Given the description of an element on the screen output the (x, y) to click on. 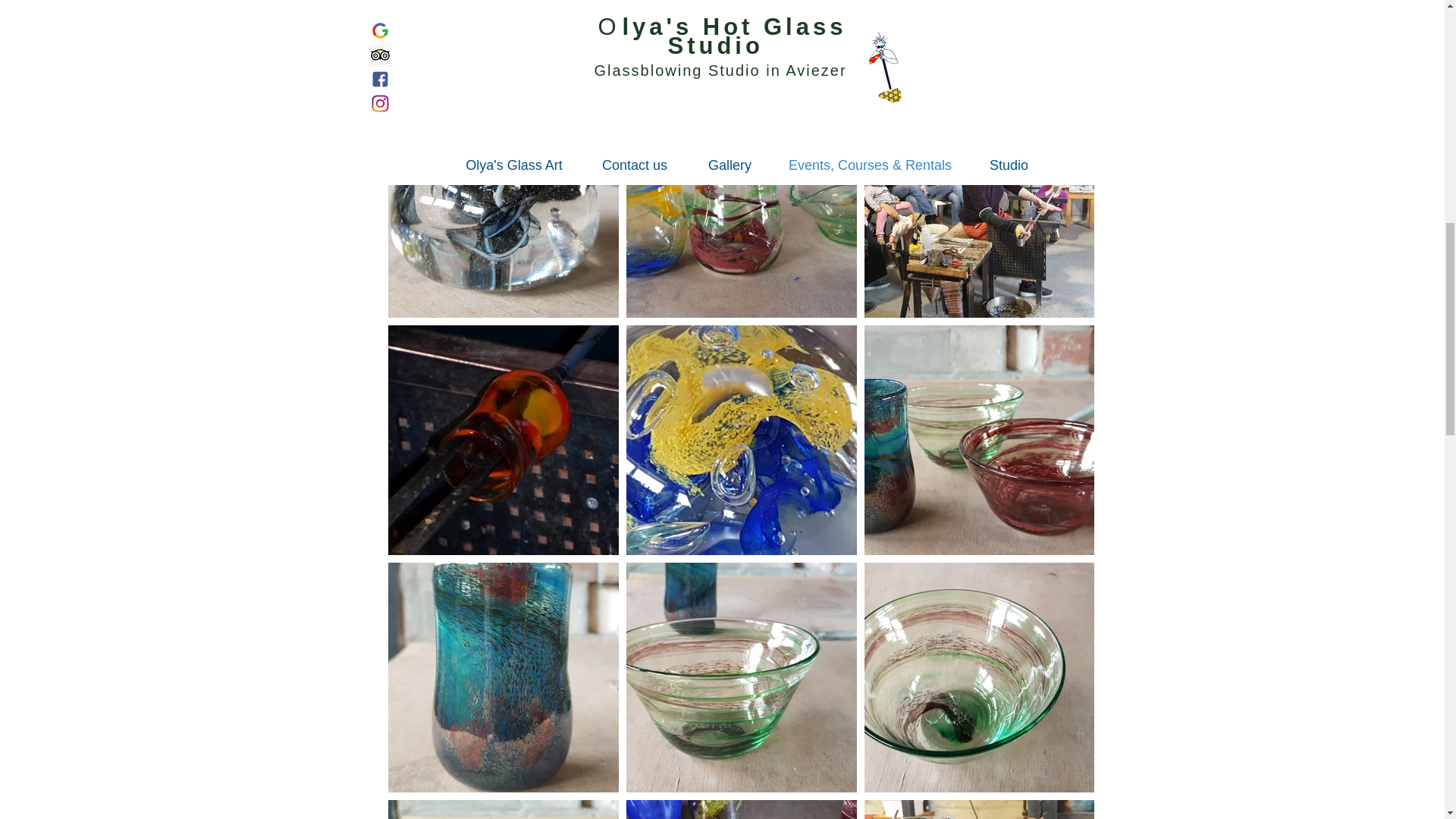
email (984, 22)
contact us (1010, 50)
